Given the description of an element on the screen output the (x, y) to click on. 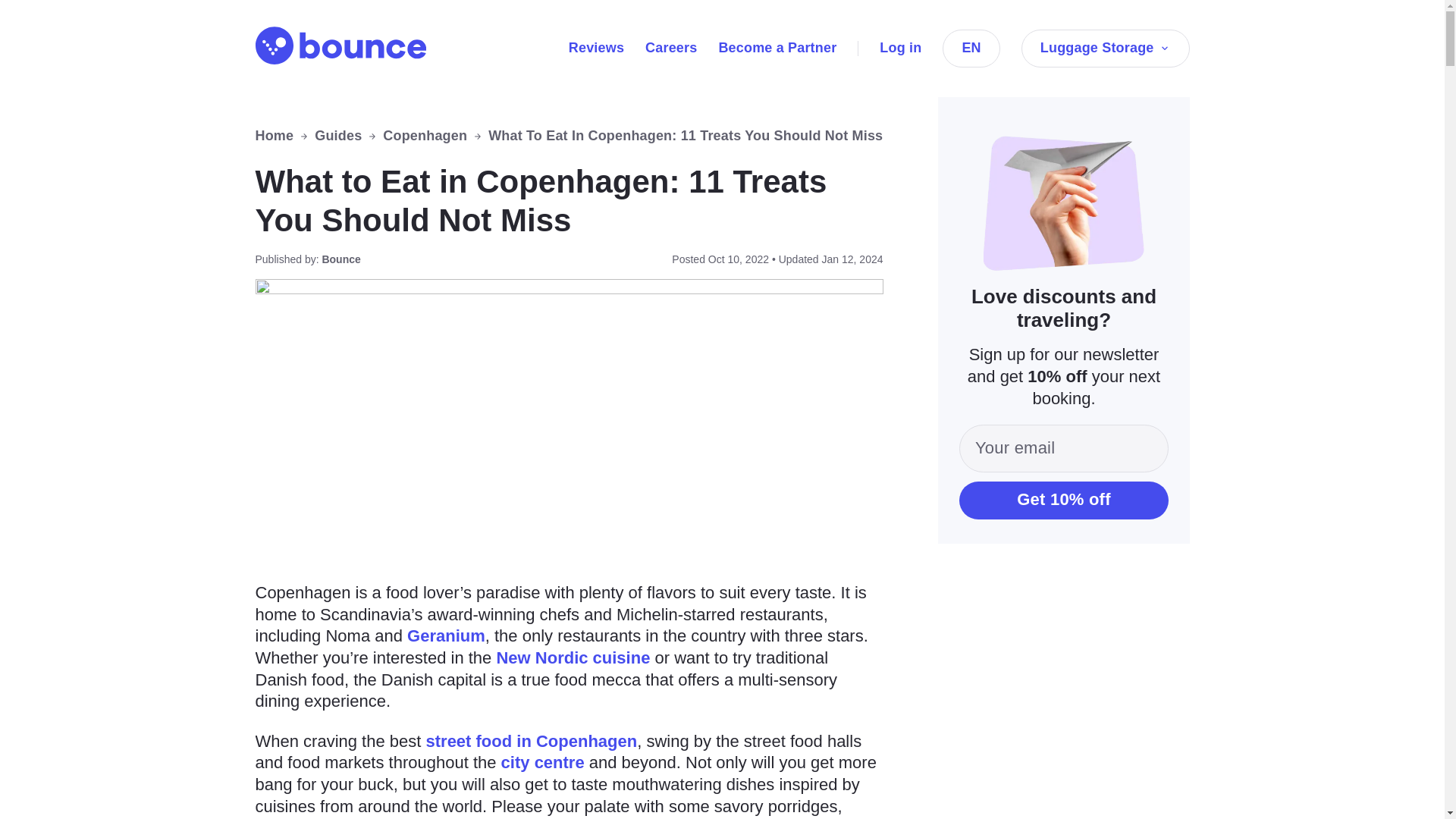
Copenhagen (424, 135)
Careers (671, 47)
city centre (542, 762)
street food in Copenhagen (531, 741)
Bounce (339, 45)
Reviews (596, 47)
New Nordic cuisine (572, 657)
EN (970, 48)
Geranium (445, 635)
Home (274, 135)
